Given the description of an element on the screen output the (x, y) to click on. 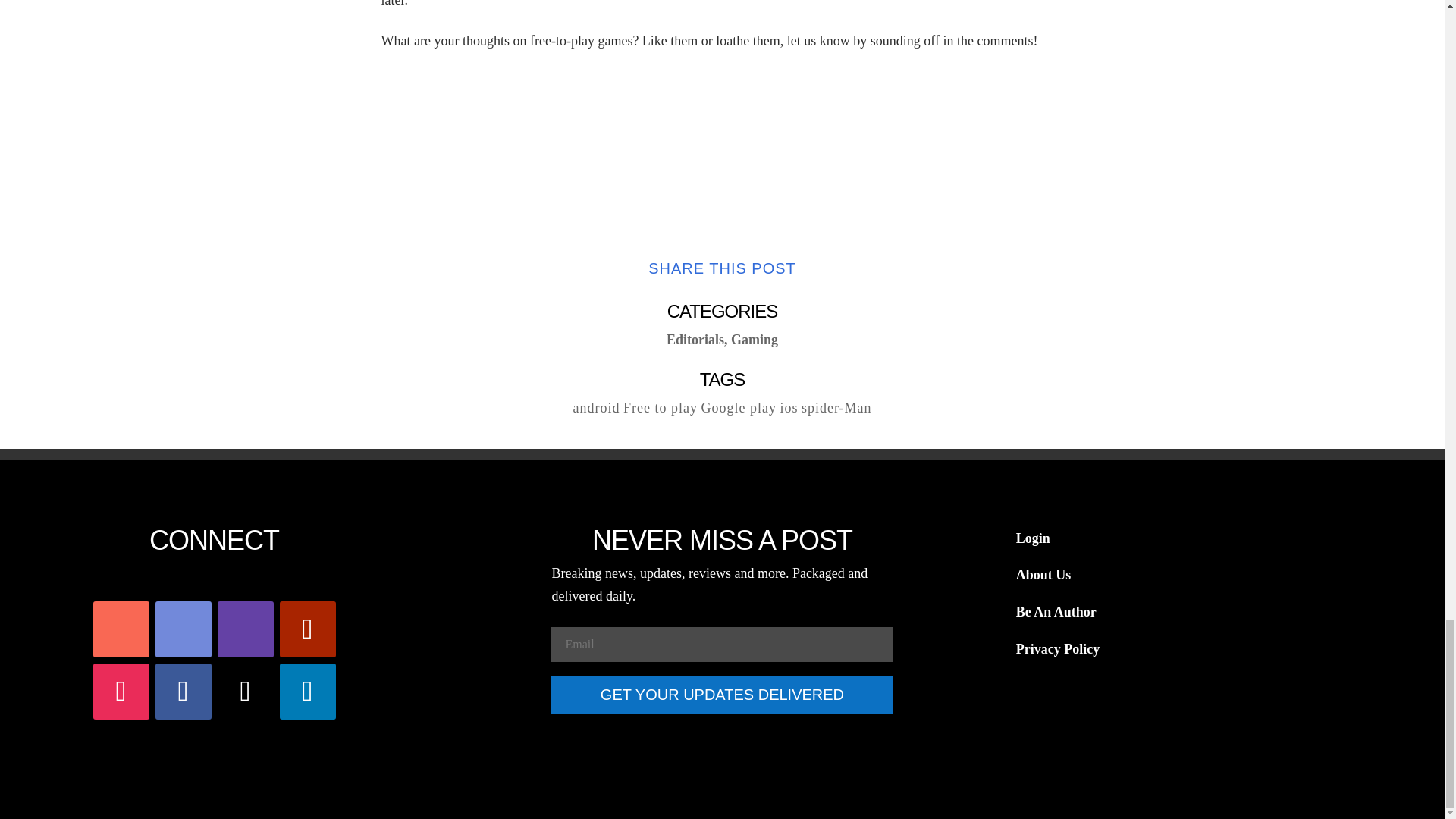
Free to play (660, 407)
android (596, 407)
spider-Man (837, 407)
Follow on Instagram (121, 691)
ios (787, 407)
Follow on X (244, 691)
Follow on LinkedIn (307, 691)
Follow on Facebook (183, 691)
Follow on Youtube (307, 629)
Google play (738, 407)
